Given the description of an element on the screen output the (x, y) to click on. 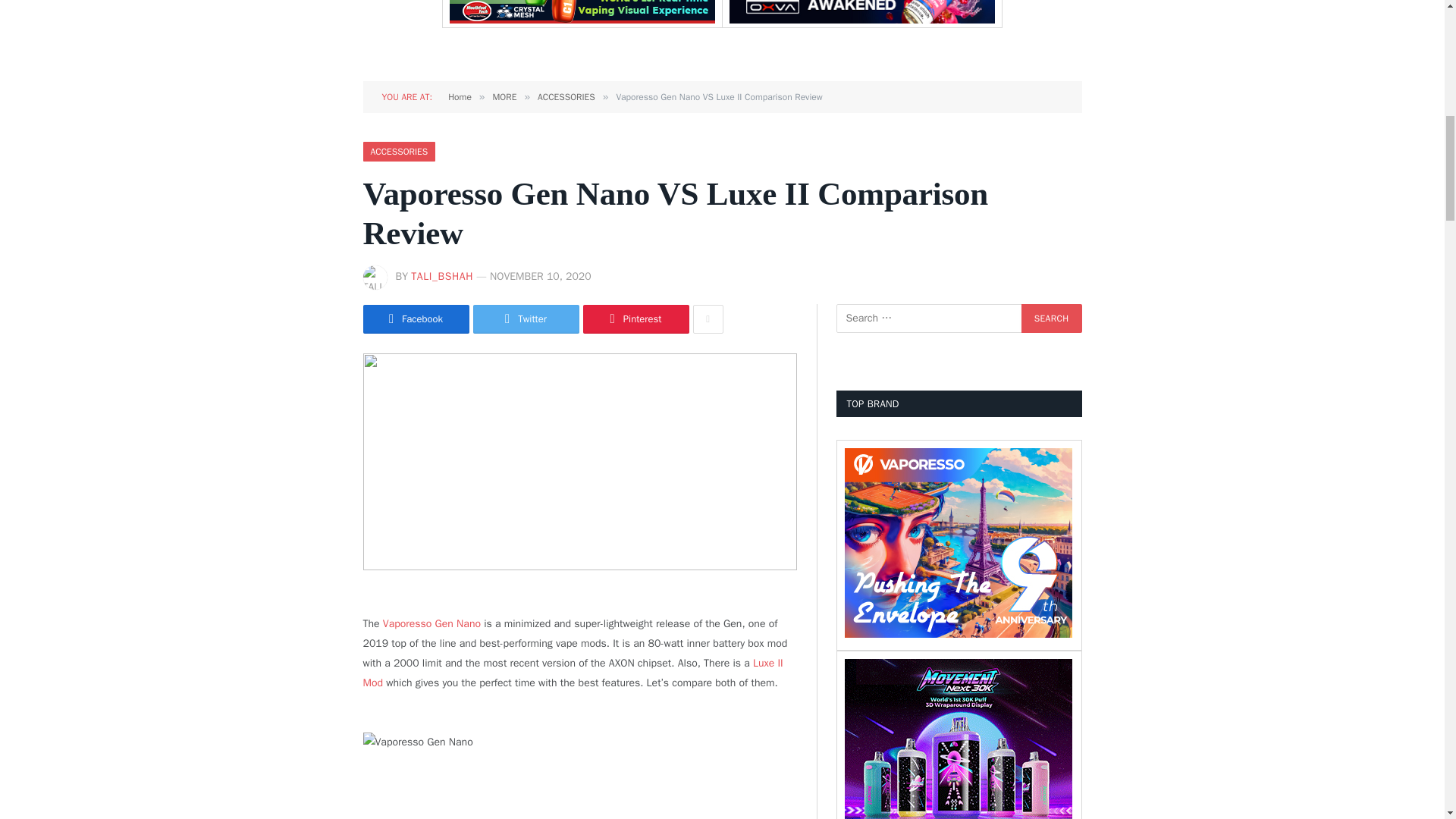
Share on Pinterest (635, 318)
Share on Facebook (415, 318)
Share on Twitter (526, 318)
Search (1051, 317)
Show More Social Sharing (708, 318)
Search (1051, 317)
Vaporesso Gen Nano VS Luxe II Comparison Review (579, 461)
